Given the description of an element on the screen output the (x, y) to click on. 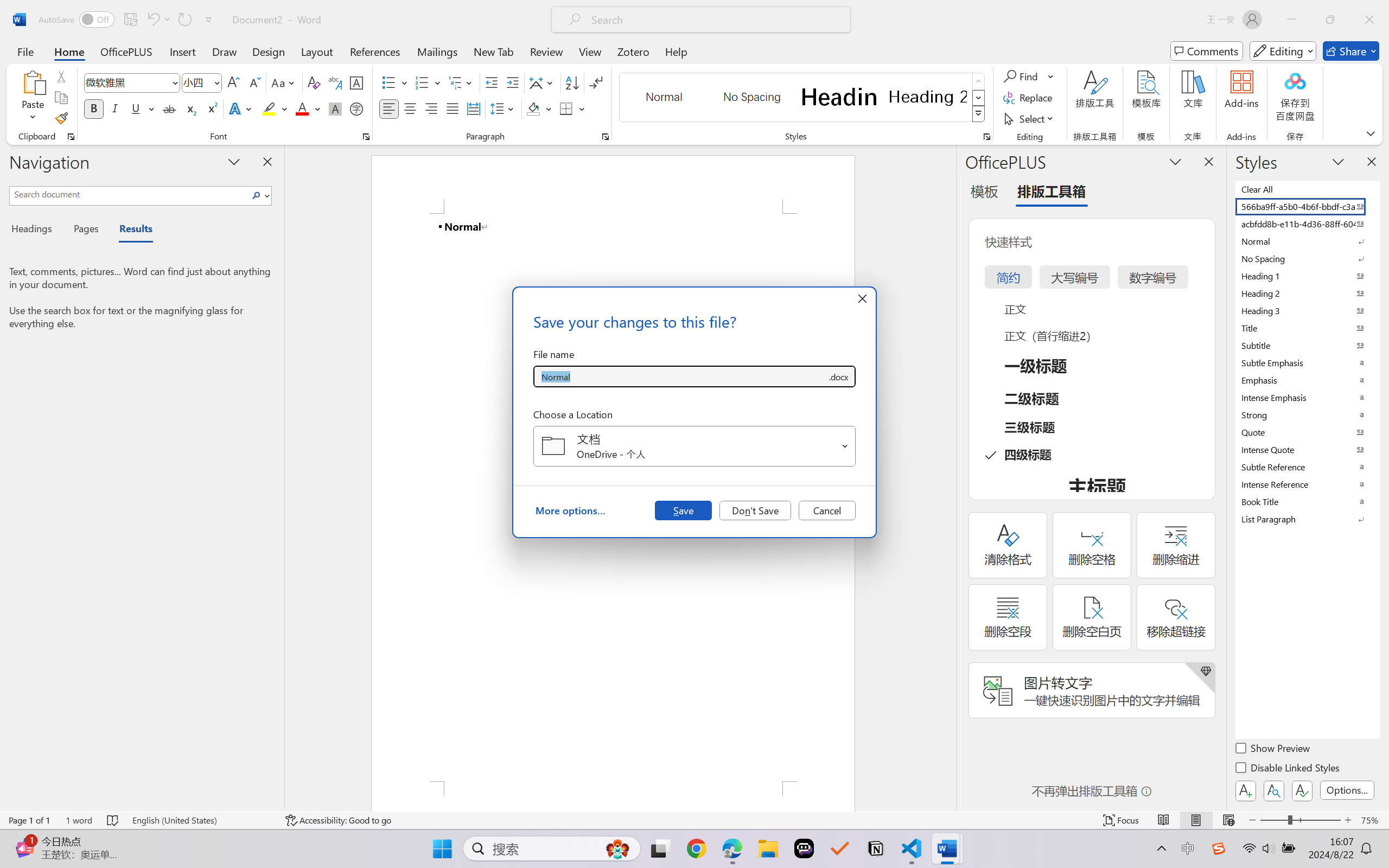
Sort... (571, 82)
No Spacing (1306, 258)
Minimize (1291, 19)
File name (680, 376)
Ribbon Display Options (1370, 132)
Justify (452, 108)
Shrink Font (253, 82)
Focus  (1121, 819)
Line and Paragraph Spacing (503, 108)
566ba9ff-a5b0-4b6f-bbdf-c3ab41993fc2 (1306, 206)
Zoom In (1348, 819)
